Given the description of an element on the screen output the (x, y) to click on. 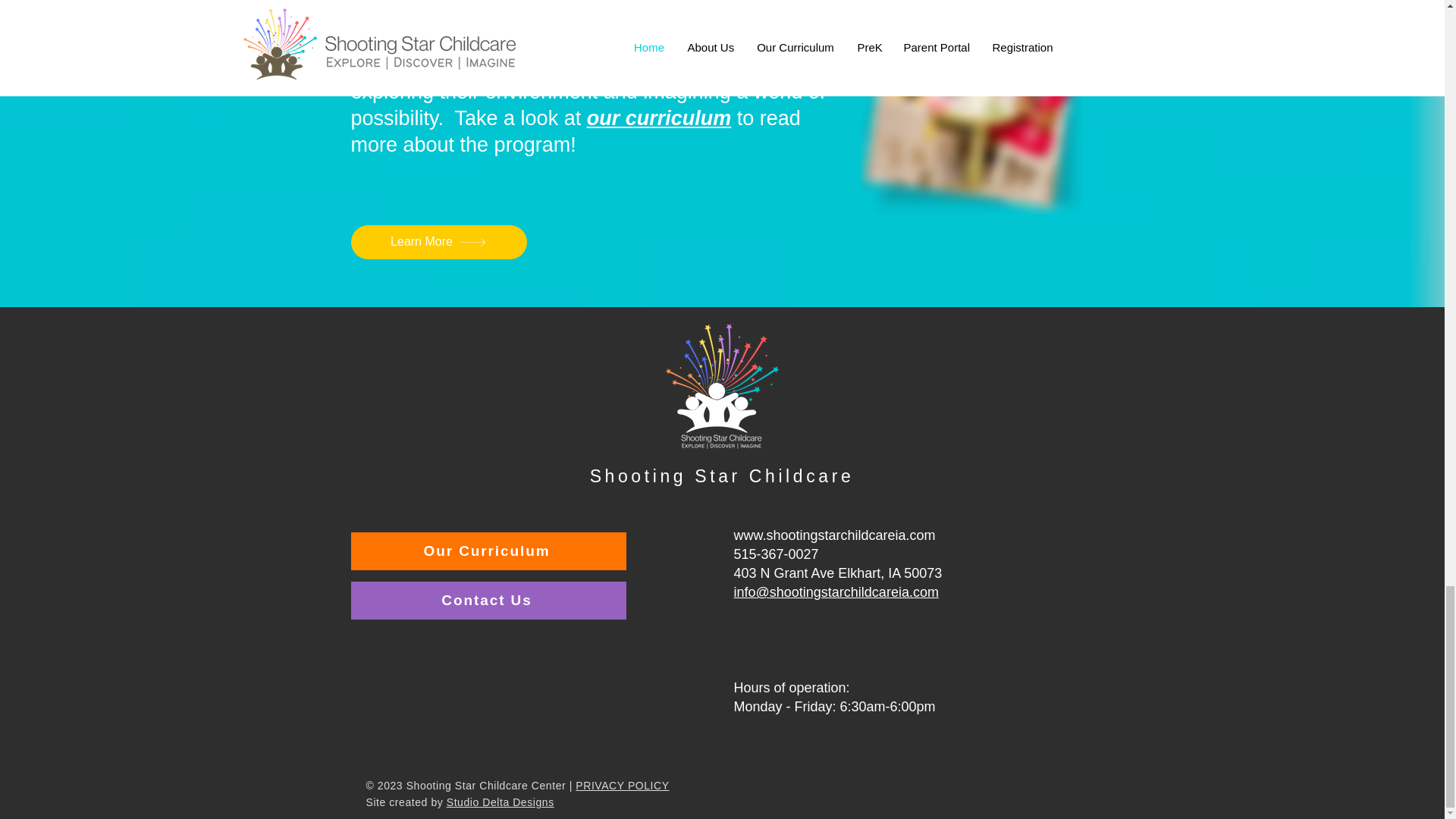
Studio Delta Designs (500, 802)
www.shootingstarchildcareia.com (834, 534)
our curriculum (659, 118)
Learn More (437, 242)
PRIVACY POLICY (621, 785)
Contact Us (488, 600)
Our Curriculum (488, 551)
